Given the description of an element on the screen output the (x, y) to click on. 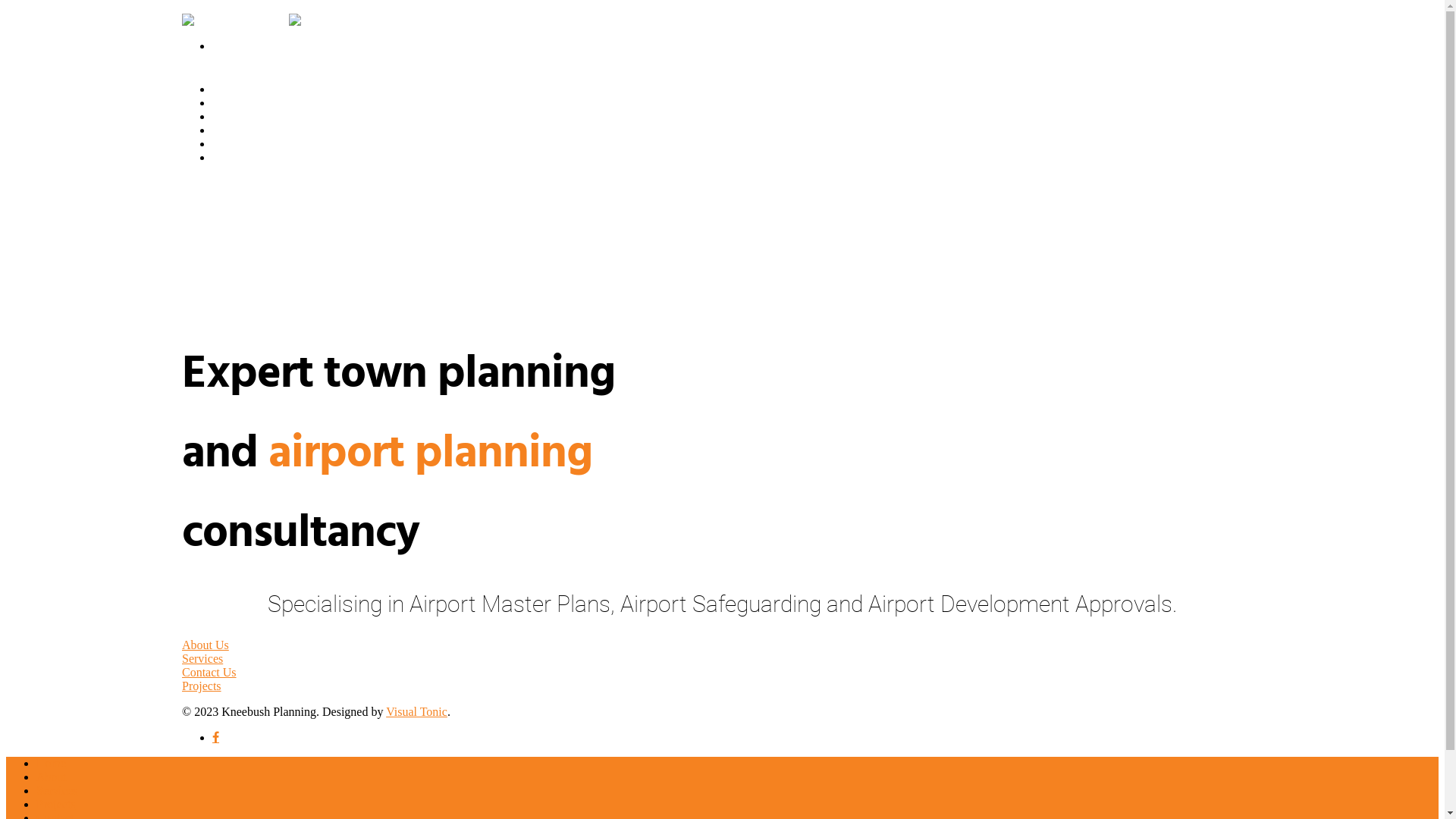
Home Element type: text (234, 92)
Visual Tonic Element type: text (416, 711)
Services Element type: text (202, 658)
Services Element type: text (239, 119)
Home Element type: text (50, 762)
Projects Element type: text (55, 803)
Contact Element type: text (238, 147)
Contact Us Element type: text (209, 671)
Projects Element type: text (201, 685)
Services Element type: text (56, 790)
About Element type: text (234, 106)
About Element type: text (51, 776)
Projects Element type: text (239, 133)
About Us Element type: text (205, 644)
